Given the description of an element on the screen output the (x, y) to click on. 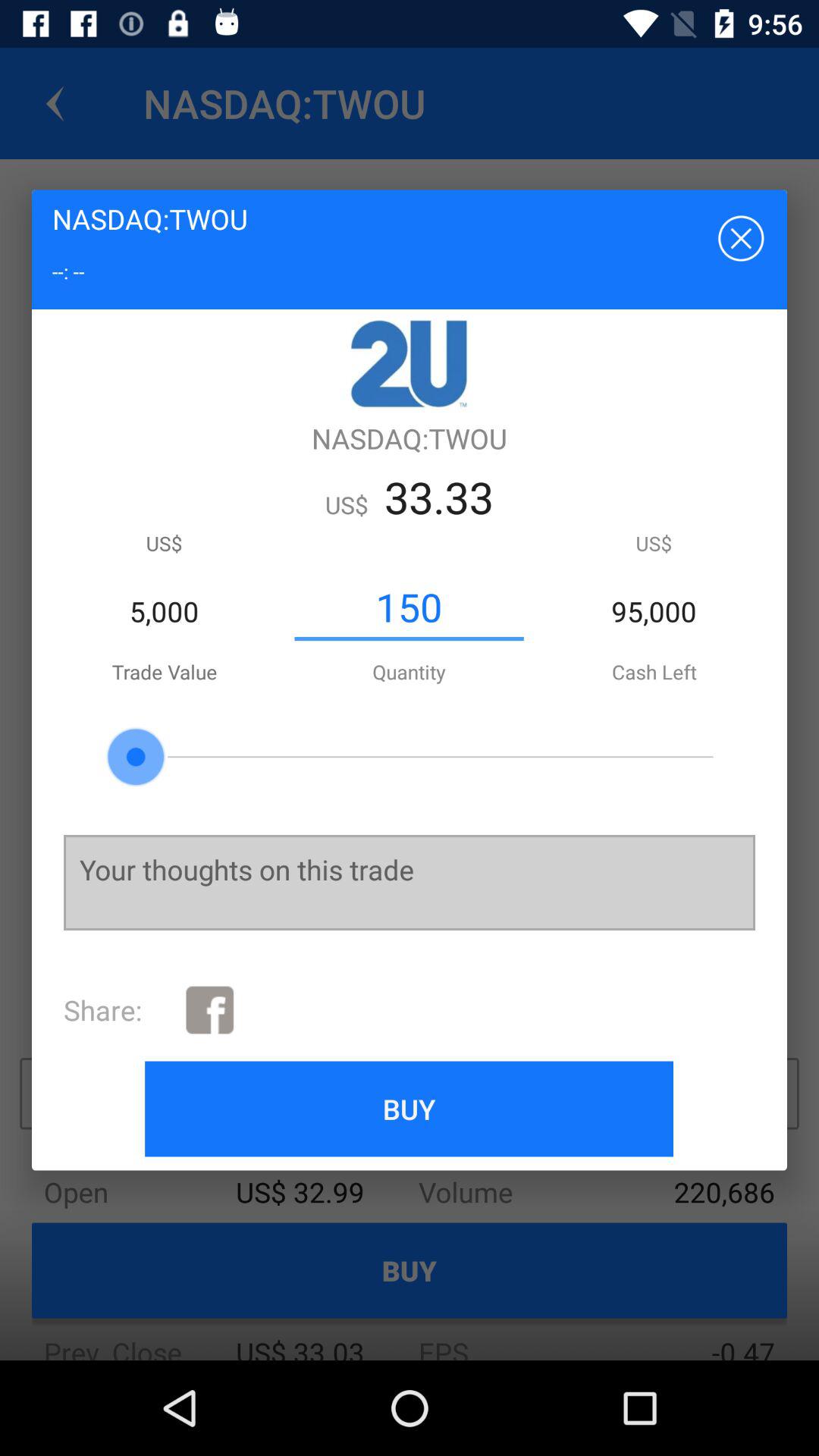
launch item next to share: item (209, 1009)
